Given the description of an element on the screen output the (x, y) to click on. 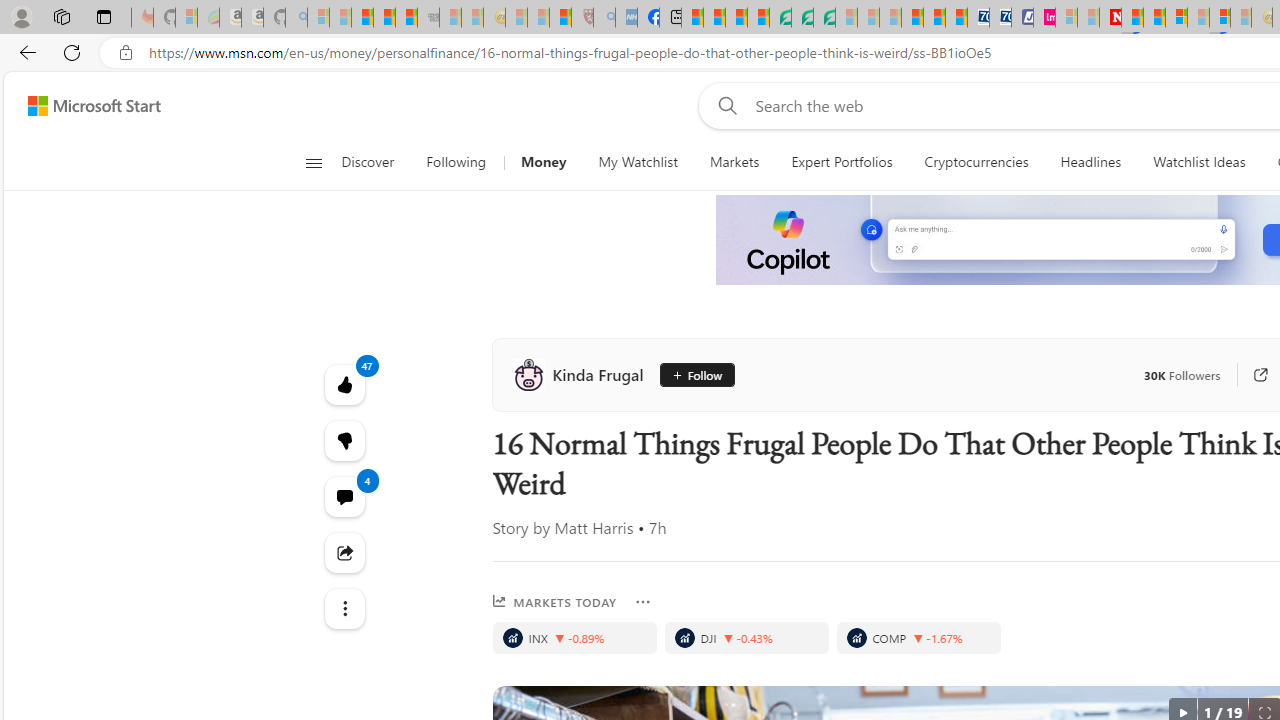
Follow (697, 374)
The Weather Channel - MSN (362, 17)
COMP, NASDAQ. Price is 17,619.35. Decreased by -1.67% (917, 637)
Markets (734, 162)
Terms of Use Agreement (802, 17)
Markets (733, 162)
Expert Portfolios (841, 162)
DJI, DOW. Price is 40,712.78. Decreased by -0.43% (746, 637)
Latest Politics News & Archive | Newsweek.com (1110, 17)
